Given the description of an element on the screen output the (x, y) to click on. 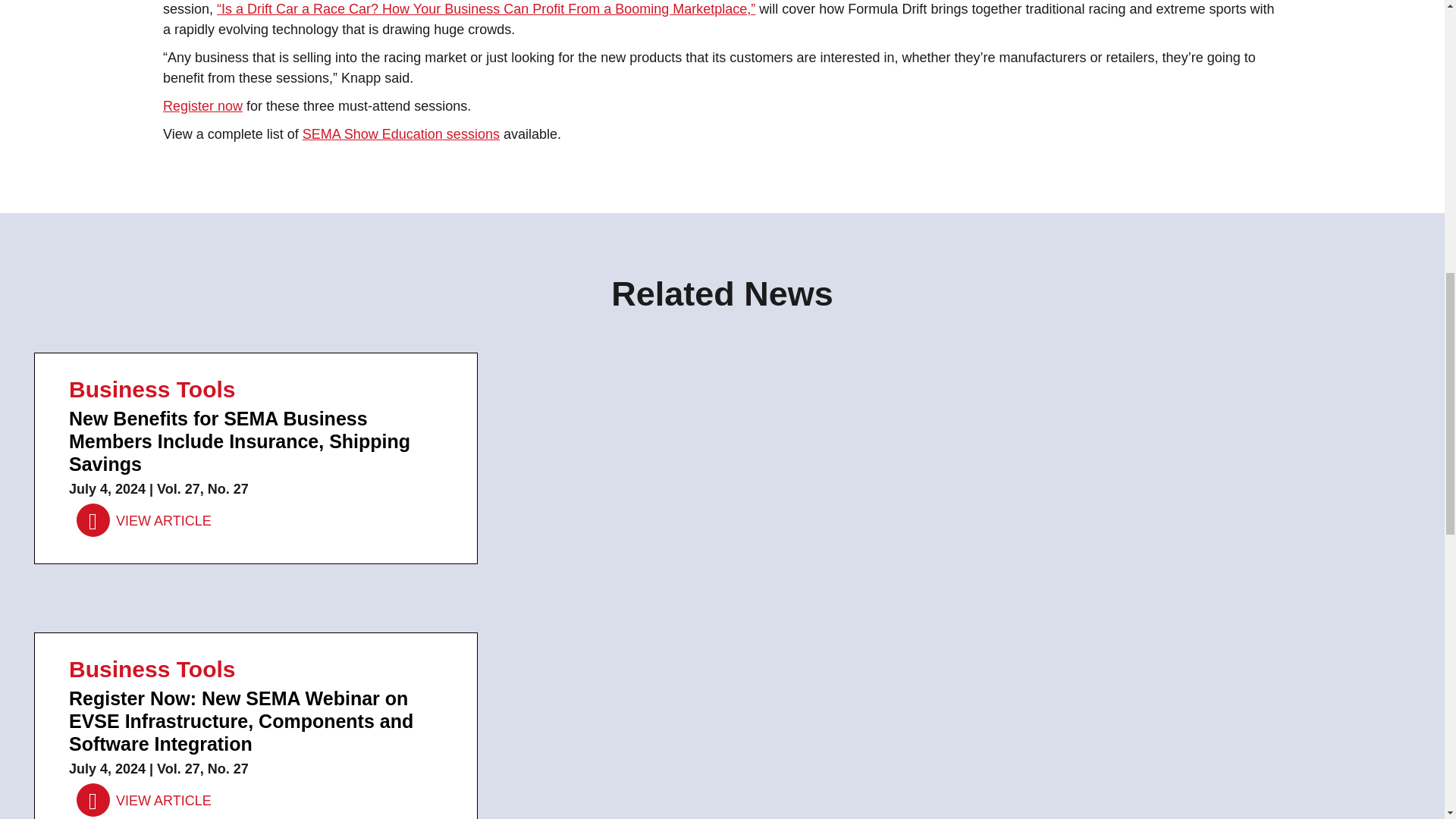
VIEW ARTICLE (143, 800)
SEMA Show Education sessions (400, 133)
Register now (203, 105)
VIEW ARTICLE (143, 521)
